Given the description of an element on the screen output the (x, y) to click on. 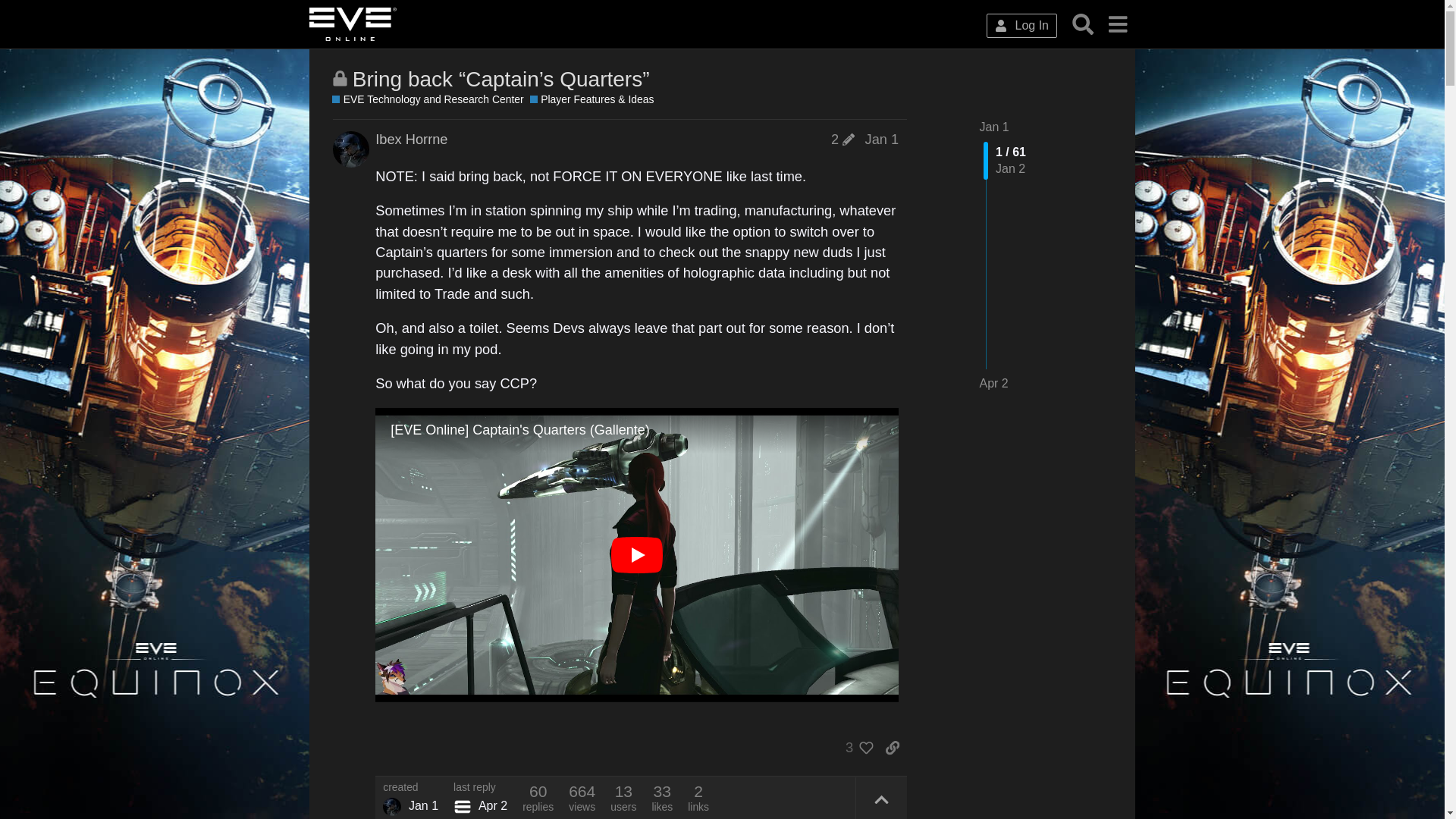
Post date (881, 139)
copy a link to this post to clipboard (892, 747)
3 (855, 747)
Ibex Horrne (391, 806)
Jump to the first post (994, 126)
last reply (479, 787)
This topic is closed; it no longer accepts new replies (339, 78)
Log In (1022, 25)
post last edited on Jan 1, 2024 10:43 pm (843, 139)
Jan 1 (994, 126)
Apr 2 (994, 383)
Jan 1, 2024 9:56 pm (881, 139)
Jump to the last post (994, 382)
menu (1117, 23)
